Given the description of an element on the screen output the (x, y) to click on. 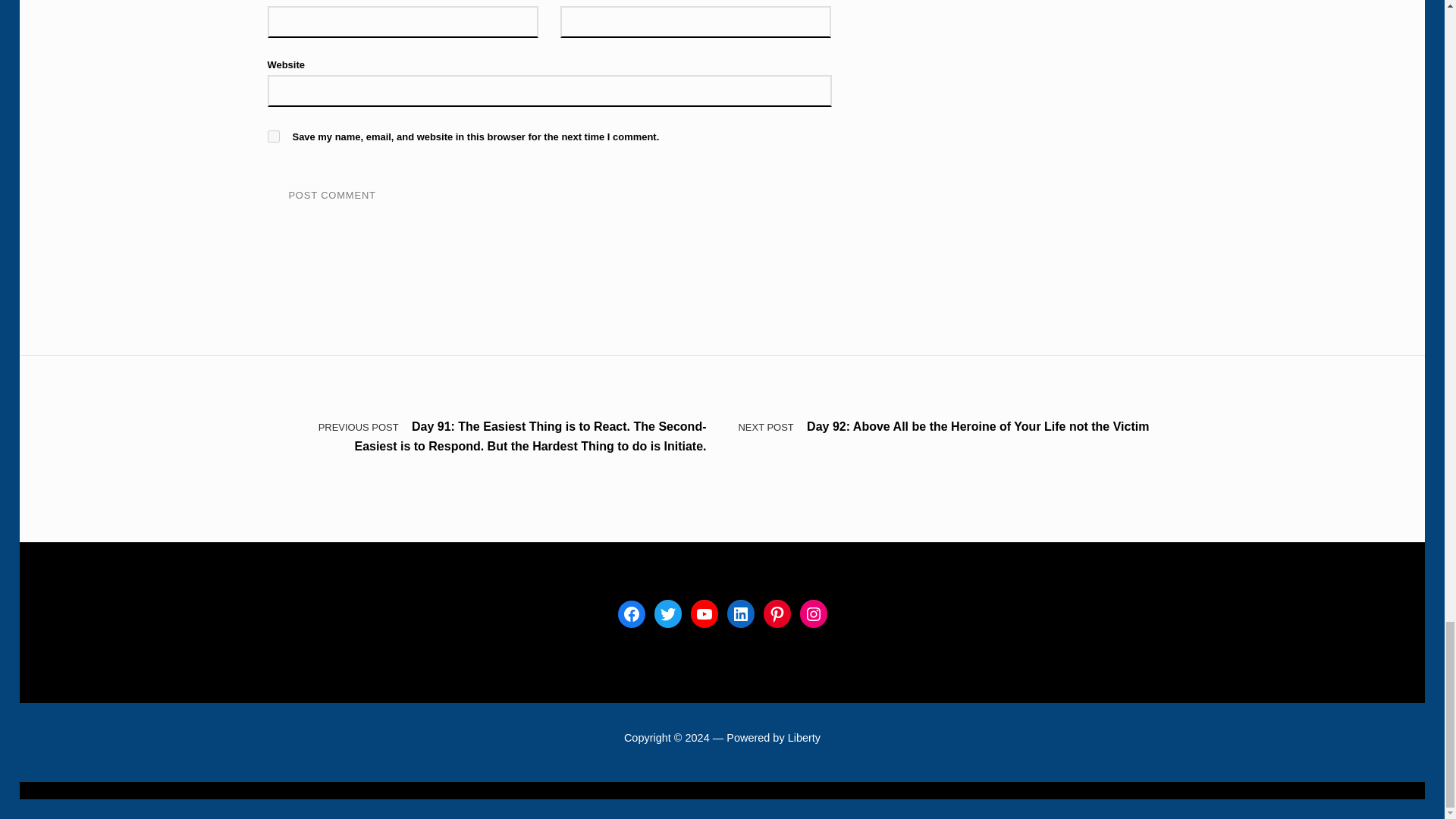
yes (272, 136)
Post Comment (331, 195)
Post Comment (331, 195)
